Given the description of an element on the screen output the (x, y) to click on. 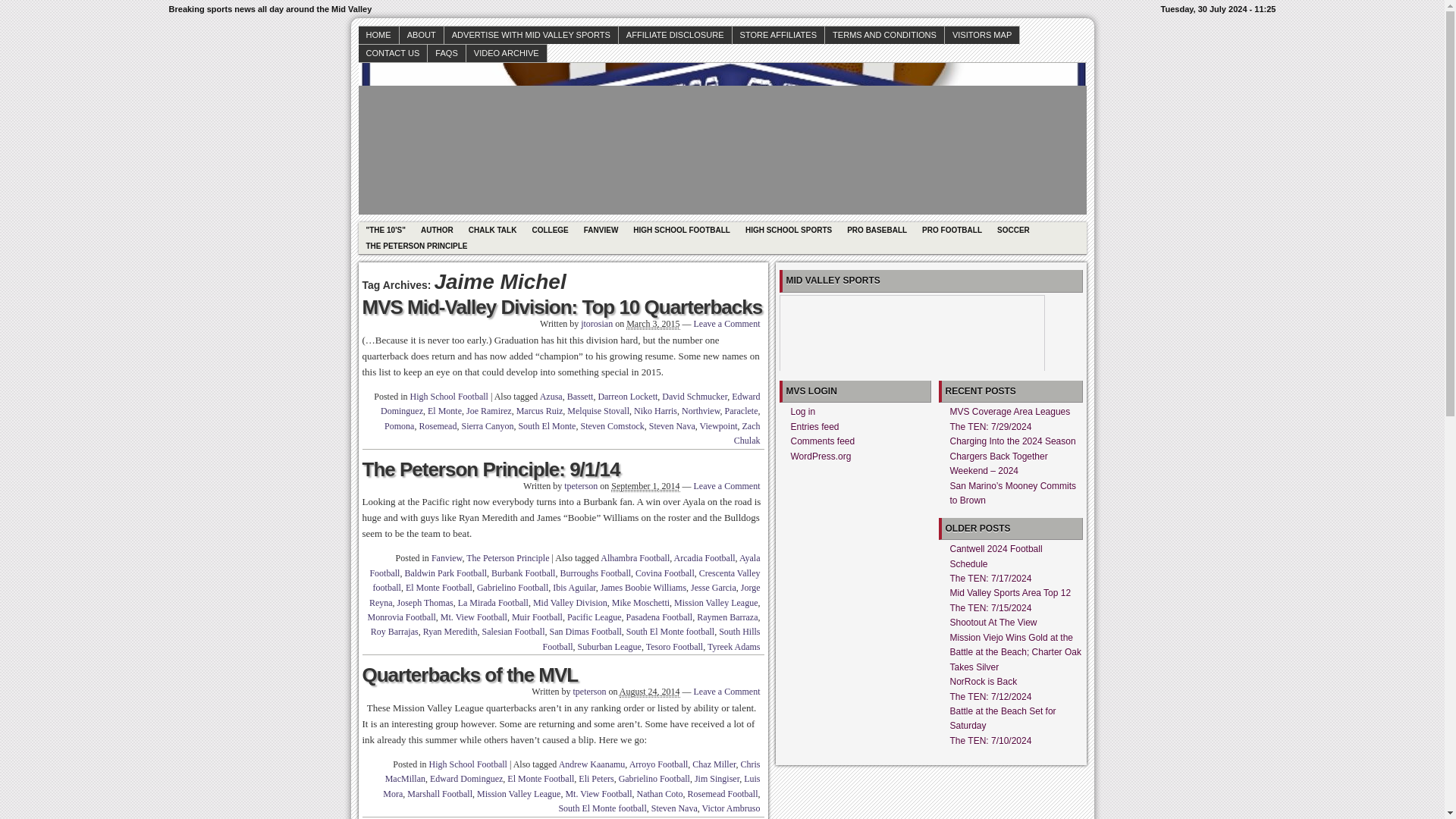
THE PETERSON PRINCIPLE (416, 245)
Leave a Comment (727, 323)
Author Opinions (601, 229)
El Monte (444, 410)
View all posts by tpeterson (590, 691)
View all posts by jtorosian (596, 323)
ABOUT (421, 34)
Melquise Stovall (597, 410)
Permanent Link to Quarterbacks of the MVL (470, 674)
September 1, 2014 - 12:00 pm (645, 486)
FAQS (446, 53)
"THE 10'S" (385, 229)
COLLEGE (549, 229)
August 24, 2014 - 12:48 pm (649, 691)
VISITORS MAP (982, 34)
